Given the description of an element on the screen output the (x, y) to click on. 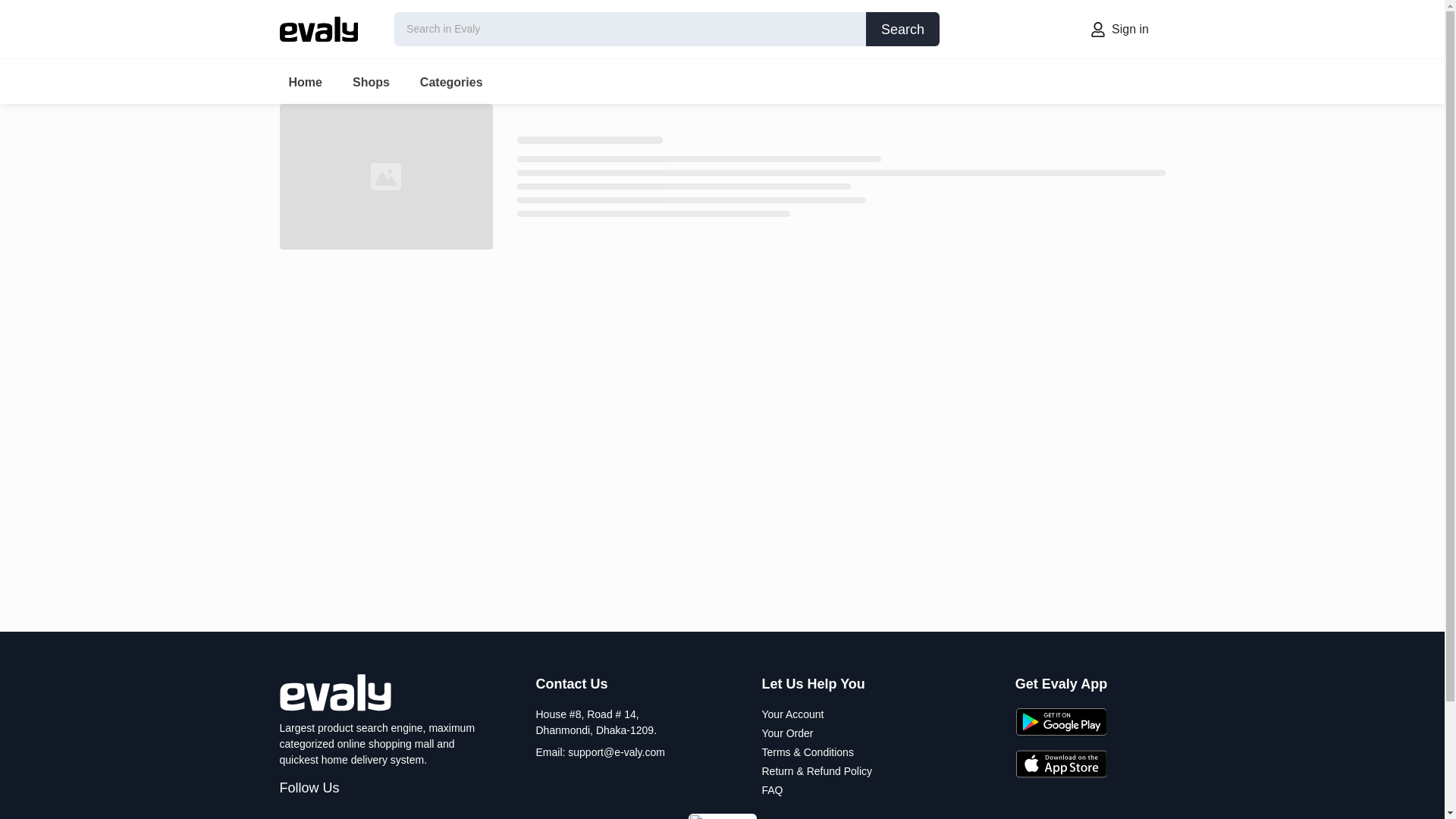
Home (301, 82)
Categories (448, 82)
FAQ (381, 81)
Shops (772, 789)
Search (368, 82)
Your Account (1119, 28)
Your Order (902, 28)
